Given the description of an element on the screen output the (x, y) to click on. 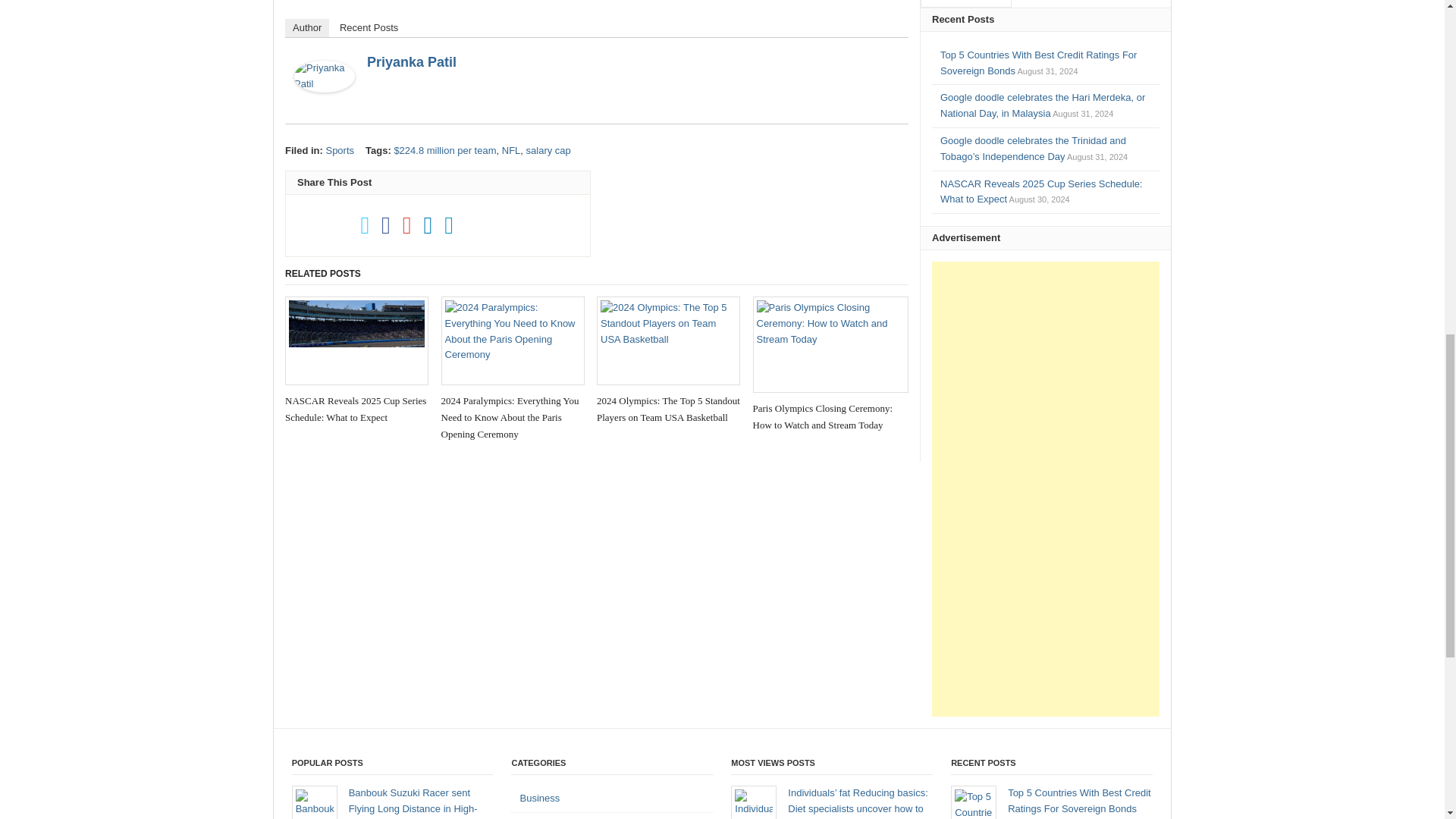
Recent Posts (368, 27)
Priyanka Patil (411, 61)
Sports (338, 150)
NFL (511, 150)
NASCAR Reveals 2025 Cup Series Schedule: What to Expect (356, 360)
Author (307, 27)
salary cap (547, 150)
Priyanka Patil (324, 100)
